Given the description of an element on the screen output the (x, y) to click on. 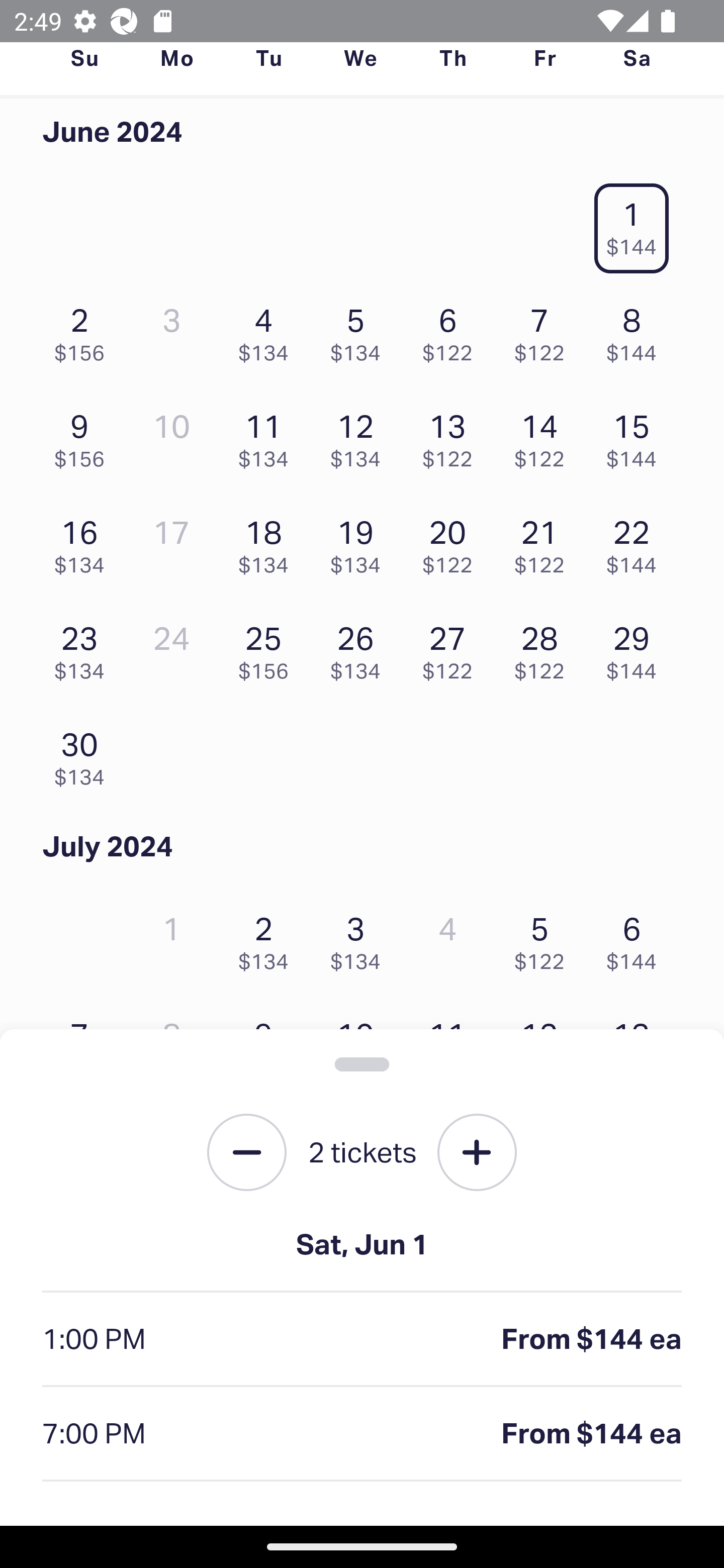
1 $144 (636, 223)
2 $156 (84, 329)
4 $134 (268, 329)
5 $134 (360, 329)
6 $122 (452, 329)
7 $122 (544, 329)
8 $144 (636, 329)
9 $156 (84, 435)
11 $134 (268, 435)
12 $134 (360, 435)
13 $122 (452, 435)
14 $122 (544, 435)
15 $144 (636, 435)
16 $134 (84, 541)
18 $134 (268, 541)
19 $134 (360, 541)
20 $122 (452, 541)
21 $122 (544, 541)
22 $144 (636, 541)
23 $134 (84, 647)
25 $156 (268, 647)
26 $134 (360, 647)
27 $122 (452, 647)
28 $122 (544, 647)
29 $144 (636, 647)
30 $134 (84, 753)
2 $134 (268, 938)
3 $134 (360, 938)
5 $122 (544, 938)
6 $144 (636, 938)
1:00 PM From $144 ea (361, 1339)
7:00 PM From $144 ea (361, 1434)
